Given the description of an element on the screen output the (x, y) to click on. 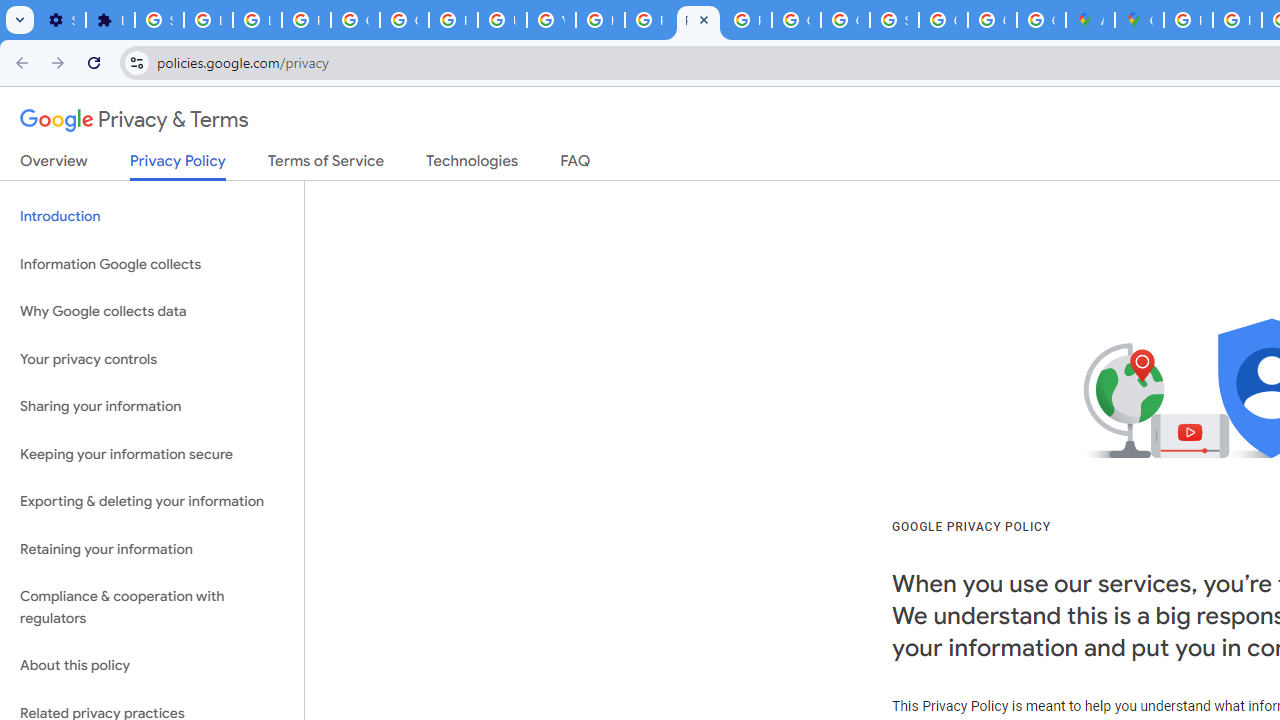
Technologies (472, 165)
Extensions (109, 20)
Why Google collects data (152, 312)
Privacy & Terms (134, 120)
Privacy Policy (177, 166)
Sign in - Google Accounts (894, 20)
Sign in - Google Accounts (159, 20)
Exporting & deleting your information (152, 502)
Compliance & cooperation with regulators (152, 607)
